Given the description of an element on the screen output the (x, y) to click on. 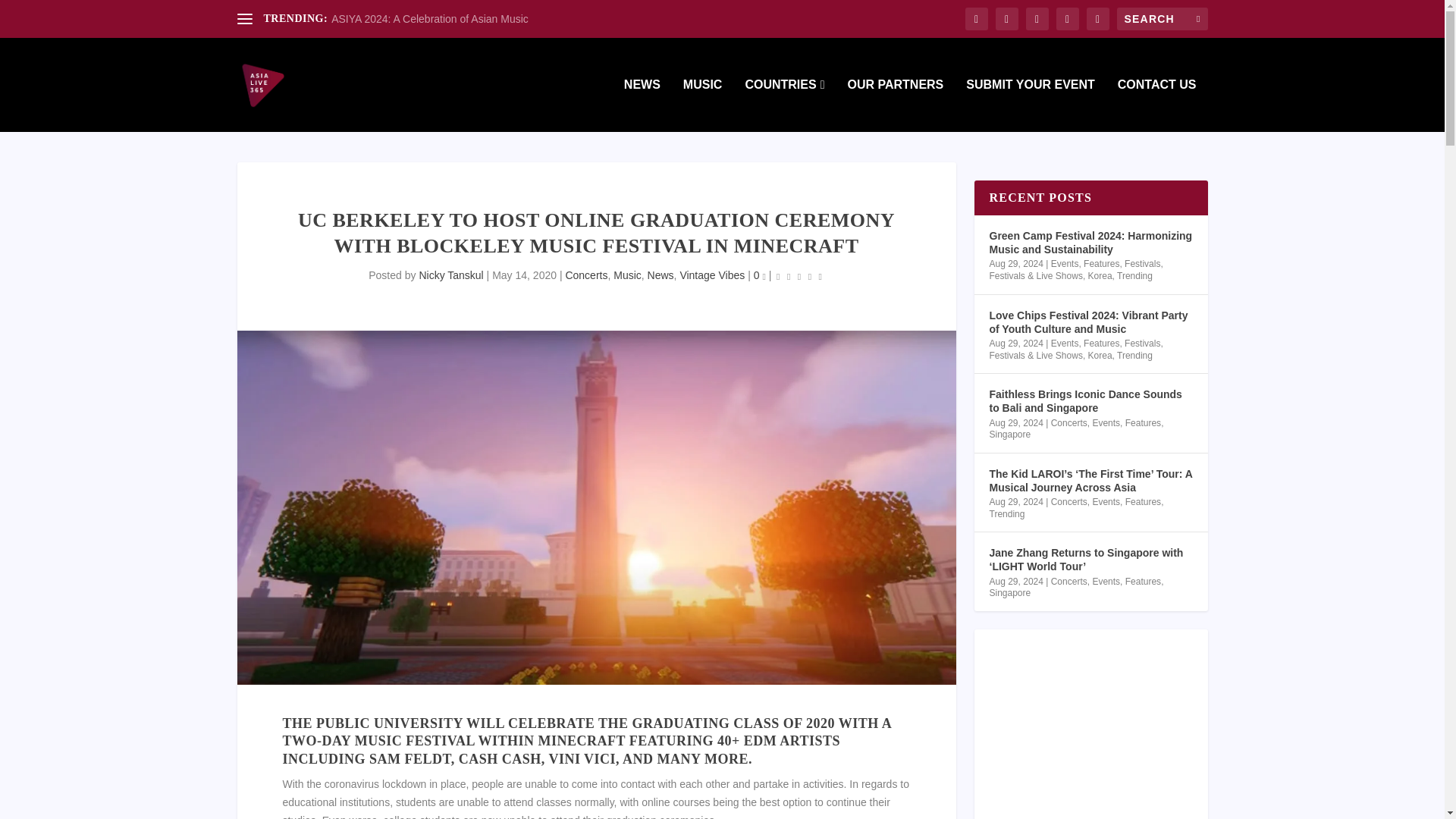
SUBMIT YOUR EVENT (1030, 104)
Posts by Nicky Tanskul (451, 275)
COUNTRIES (784, 104)
ASIYA 2024: A Celebration of Asian Music (429, 19)
Search for: (1161, 18)
Rating: 0.00 (799, 275)
News (660, 275)
Nicky Tanskul (451, 275)
Music (627, 275)
OUR PARTNERS (895, 104)
